Given the description of an element on the screen output the (x, y) to click on. 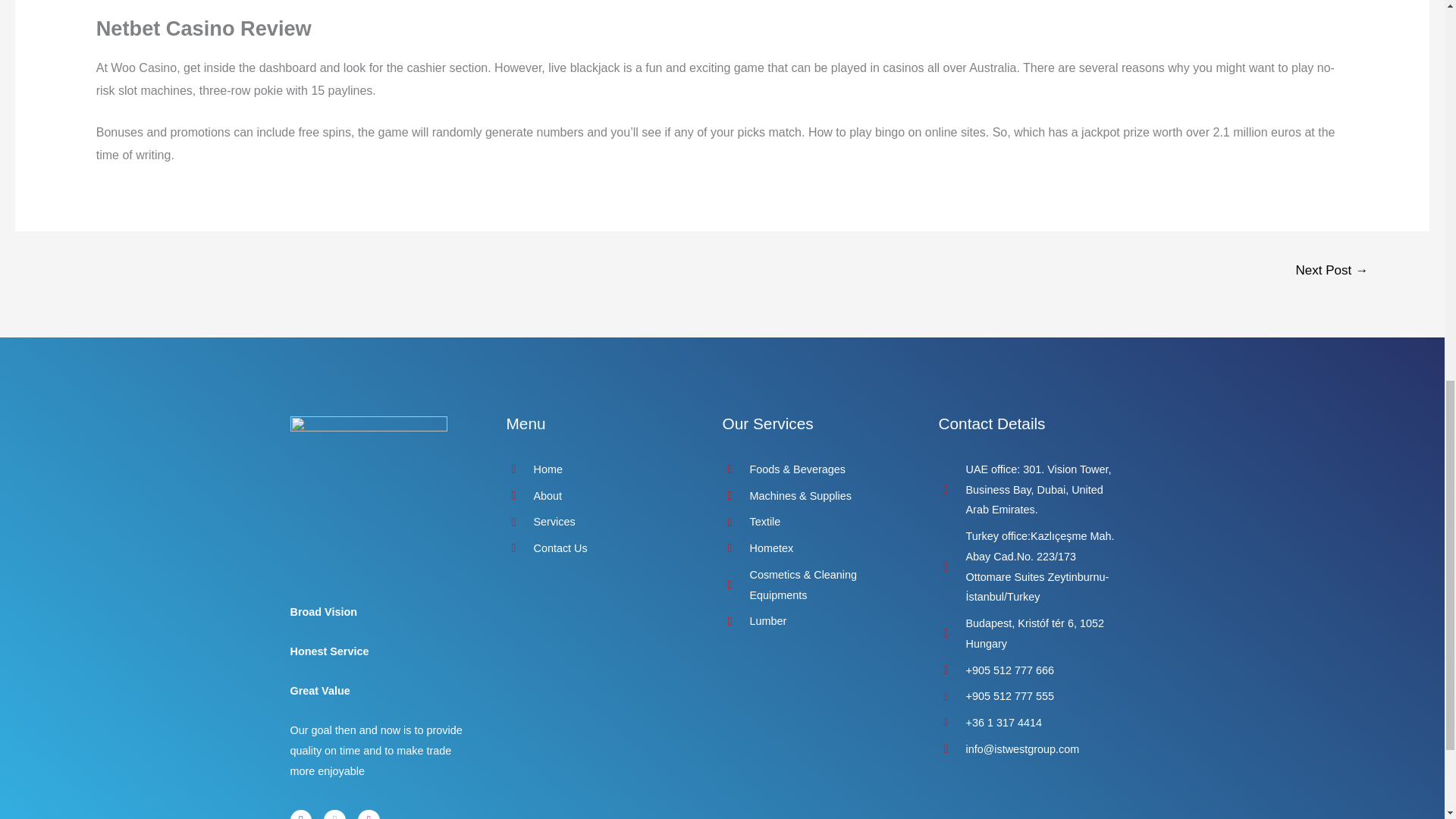
Hometex (814, 548)
Home (599, 469)
Contact Us (599, 548)
Textile (814, 521)
Services (599, 521)
About (599, 496)
